Given the description of an element on the screen output the (x, y) to click on. 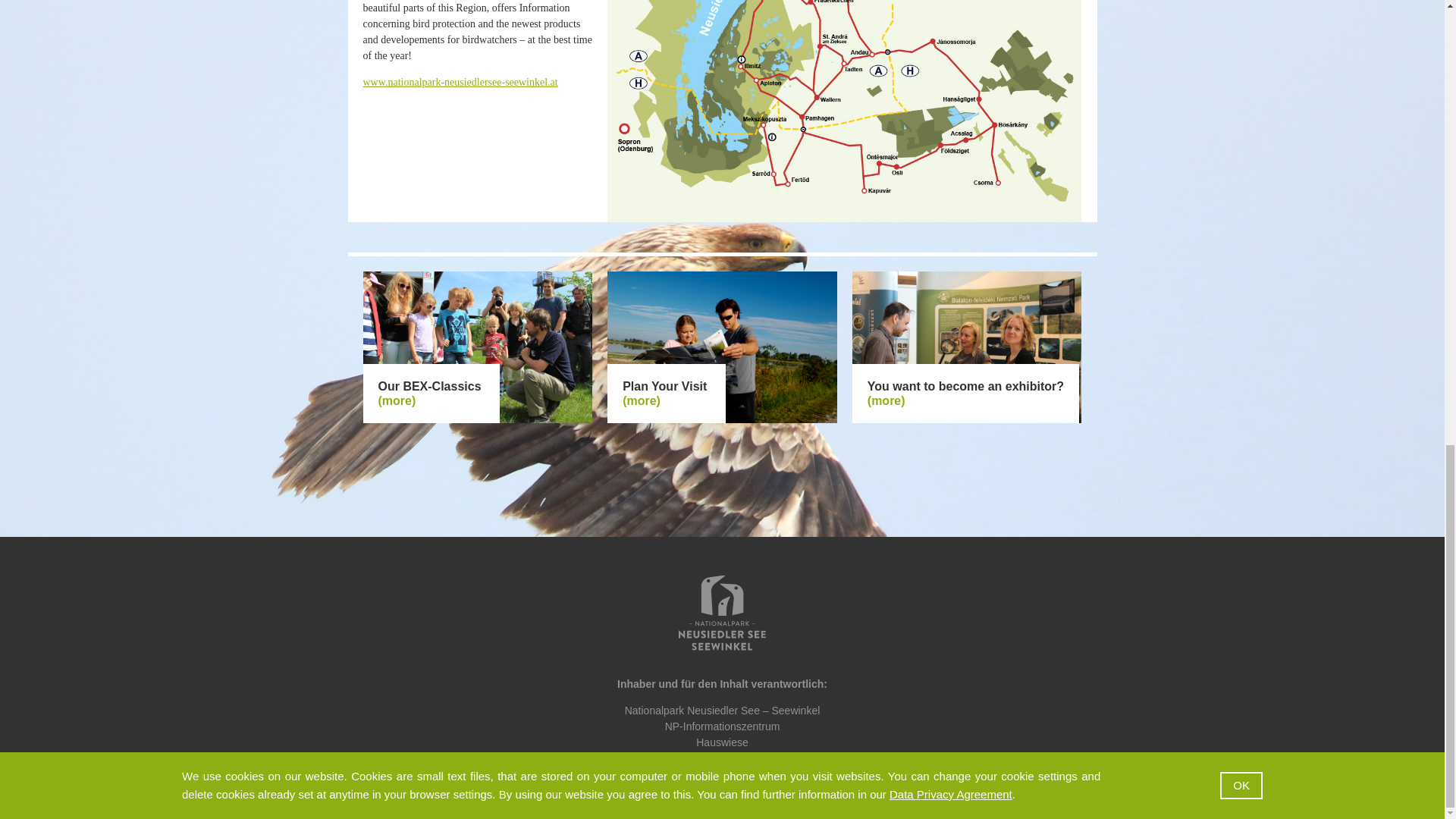
www.nationalparkneusiedlersee.at (721, 784)
BEX-Classics (395, 400)
www.nationalpark-neusiedlersee-seewinkel.at (459, 81)
www.nationalpark-neusiedlersee-seewinkel.at (459, 81)
Directions (642, 400)
Aussteller Anmeldung (886, 400)
